Given the description of an element on the screen output the (x, y) to click on. 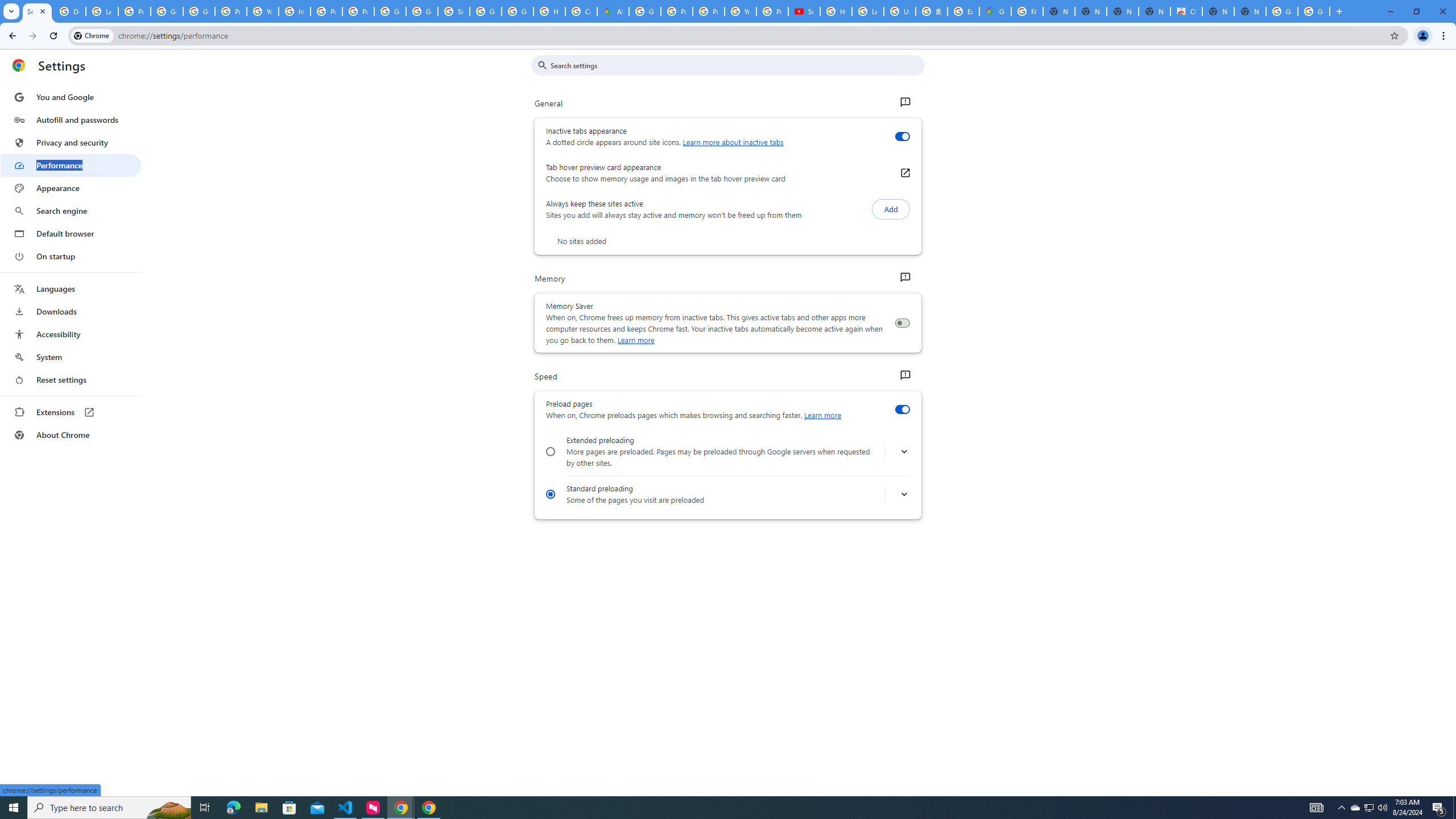
Extensions (70, 412)
You and Google (70, 96)
Memory (904, 277)
Explore new street-level details - Google Maps Help (963, 11)
Add to the "always keep these sites active" list (891, 209)
